Given the description of an element on the screen output the (x, y) to click on. 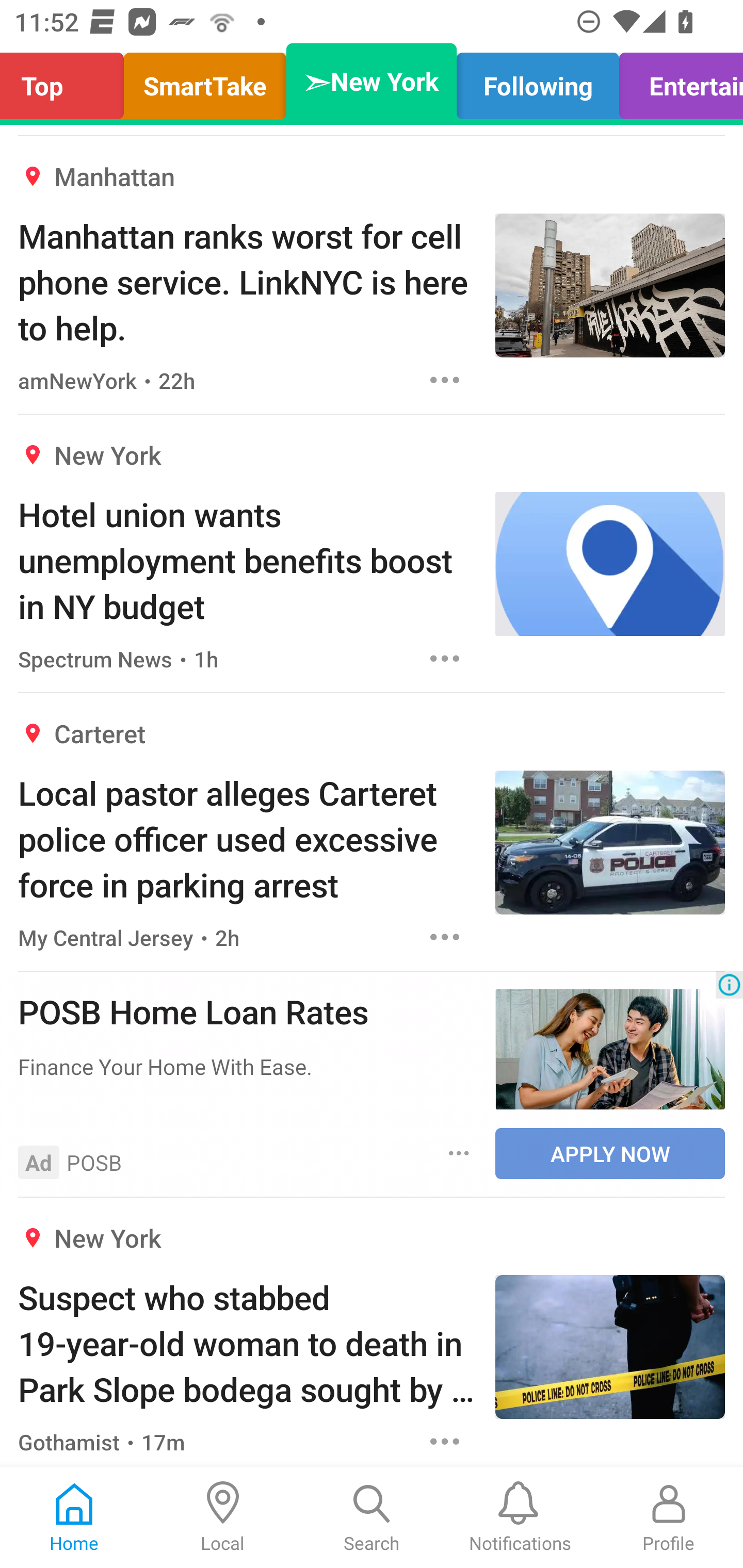
Top (67, 81)
SmartTake (204, 81)
➣New York (371, 81)
Following (537, 81)
Options (444, 380)
Options (444, 658)
Options (444, 937)
Ad Choices Icon (729, 984)
POSB Home Loan Rates (247, 1011)
Finance Your Home With Ease. (247, 1066)
APPLY NOW (610, 1153)
Options (459, 1153)
POSB (93, 1162)
Options (444, 1441)
Local (222, 1517)
Search (371, 1517)
Notifications (519, 1517)
Profile (668, 1517)
